Given the description of an element on the screen output the (x, y) to click on. 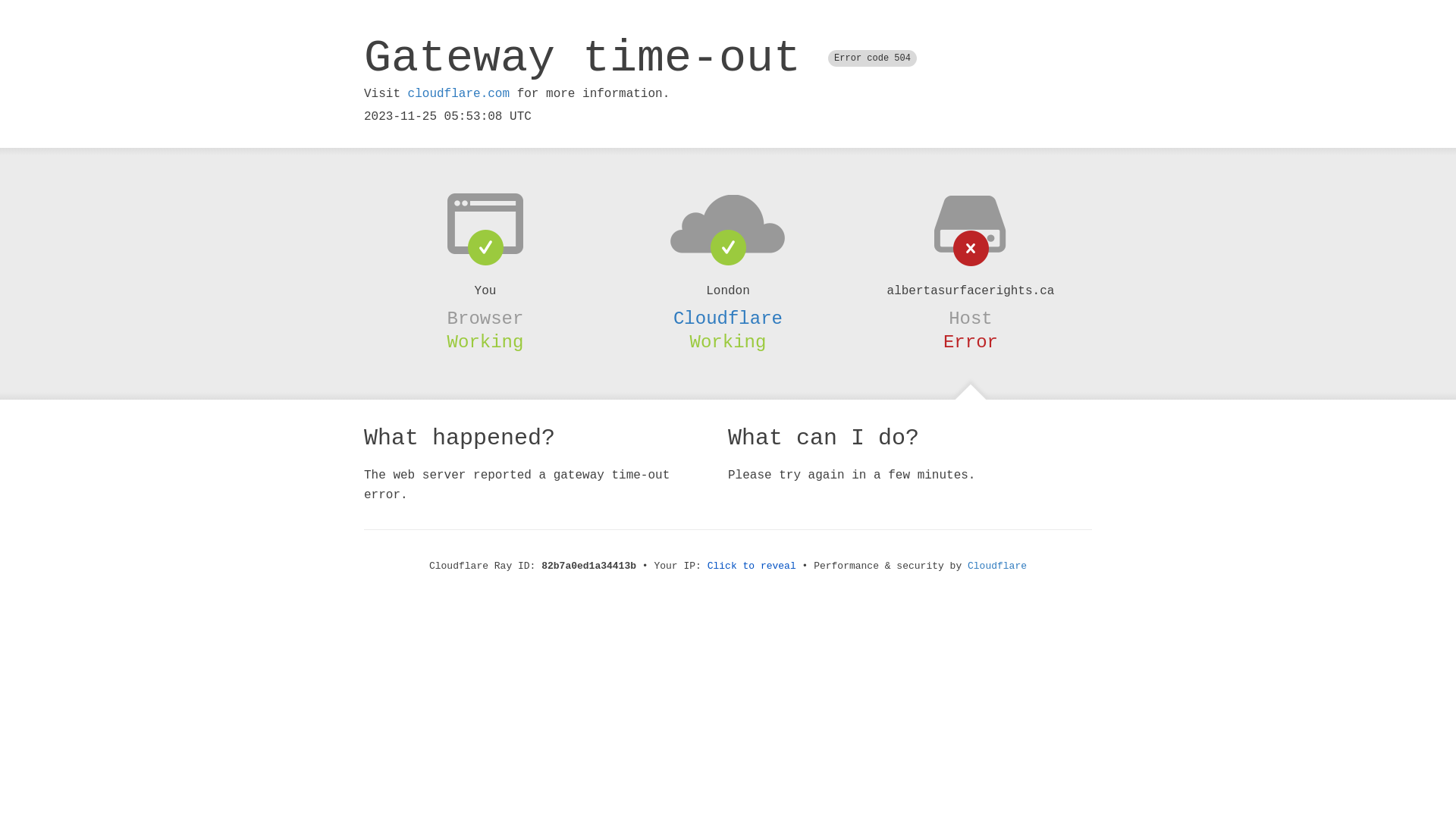
Click to reveal Element type: text (751, 565)
cloudflare.com Element type: text (458, 93)
Cloudflare Element type: text (996, 565)
Cloudflare Element type: text (727, 318)
